Given the description of an element on the screen output the (x, y) to click on. 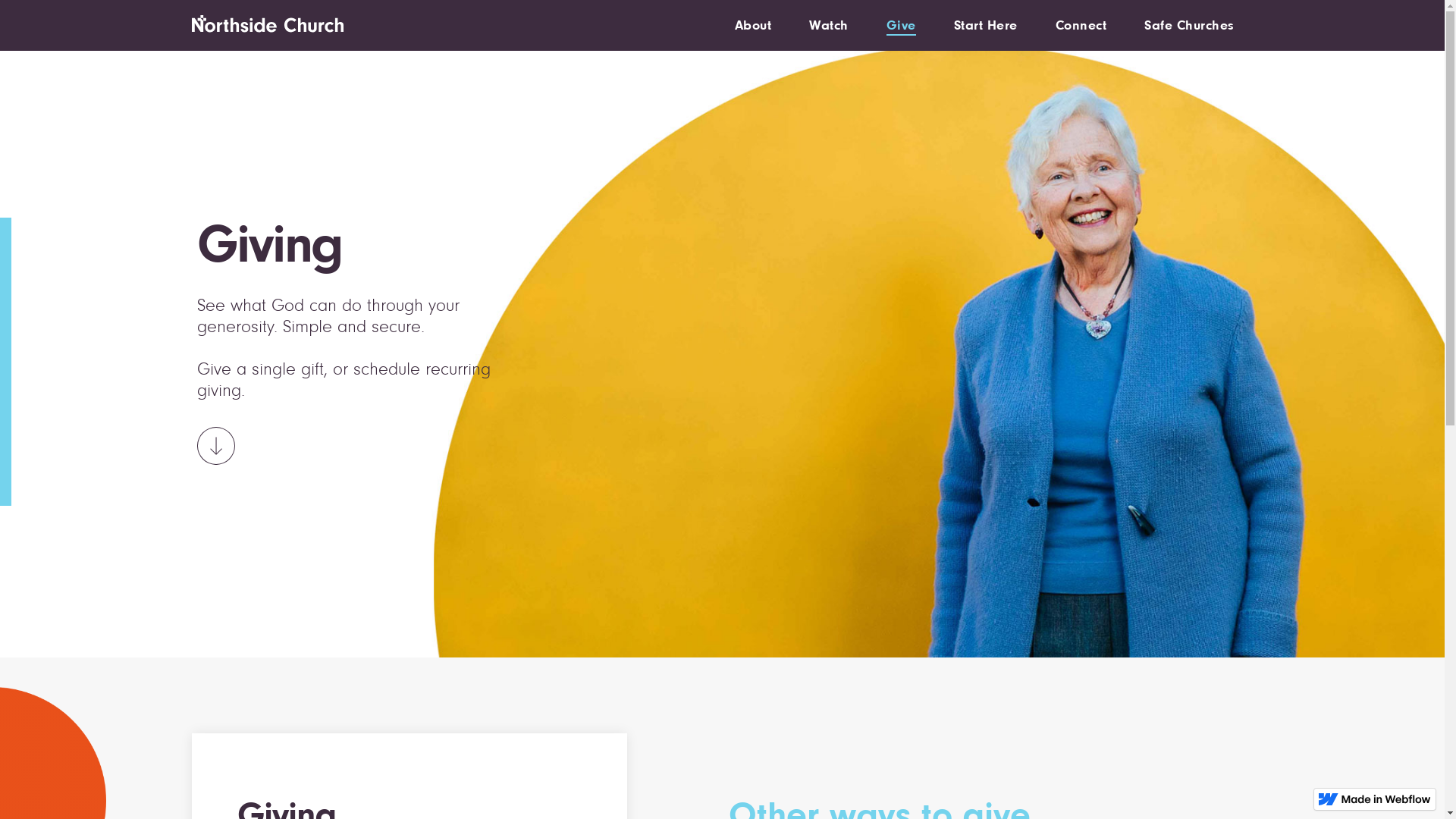
Watch Element type: text (828, 24)
Safe Churches Element type: text (1189, 24)
Give Element type: text (900, 25)
About Element type: text (752, 24)
Connect Element type: text (1081, 24)
Start Here Element type: text (985, 24)
